Given the description of an element on the screen output the (x, y) to click on. 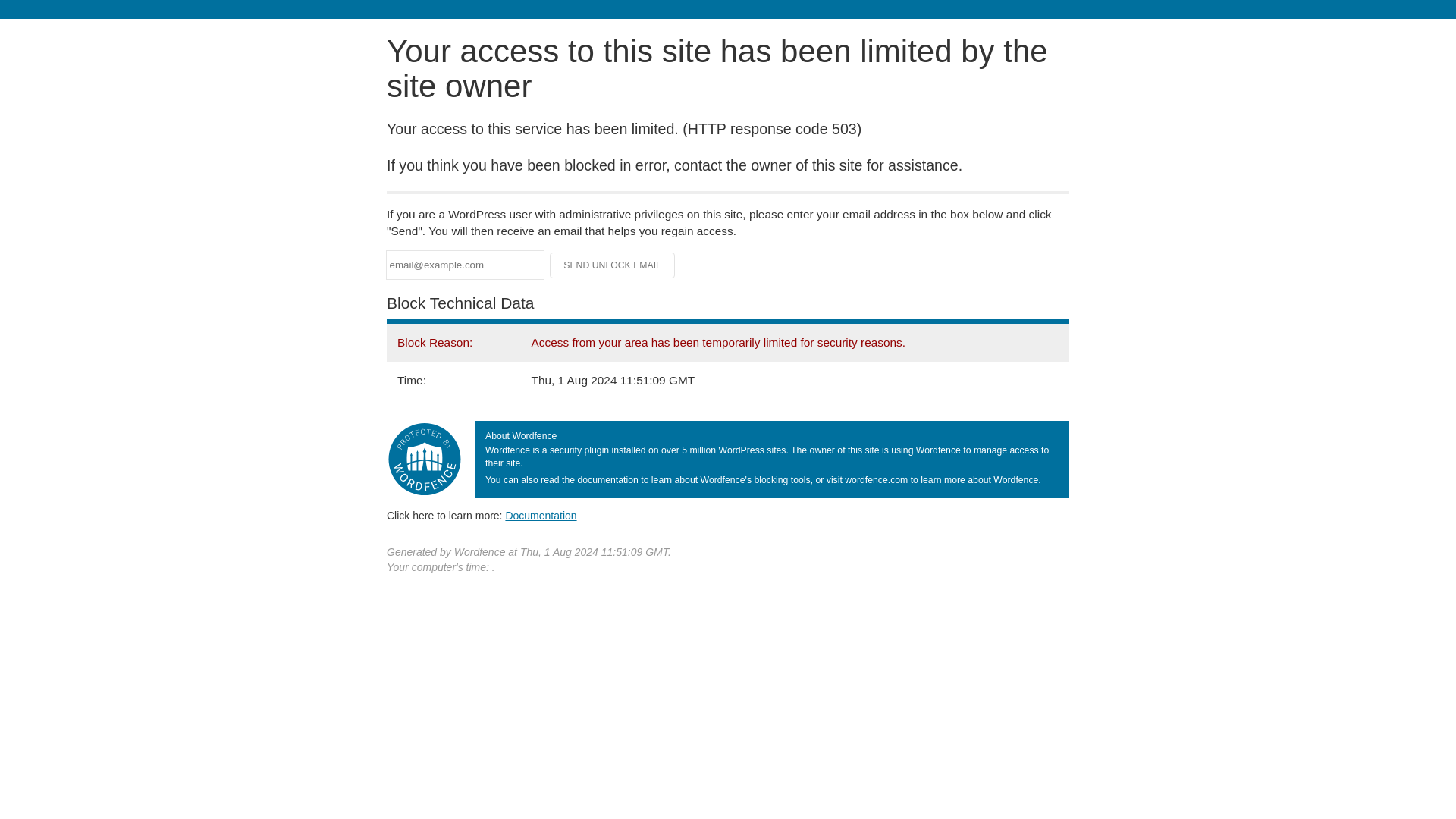
Send Unlock Email (612, 265)
Documentation (540, 515)
Send Unlock Email (612, 265)
